Given the description of an element on the screen output the (x, y) to click on. 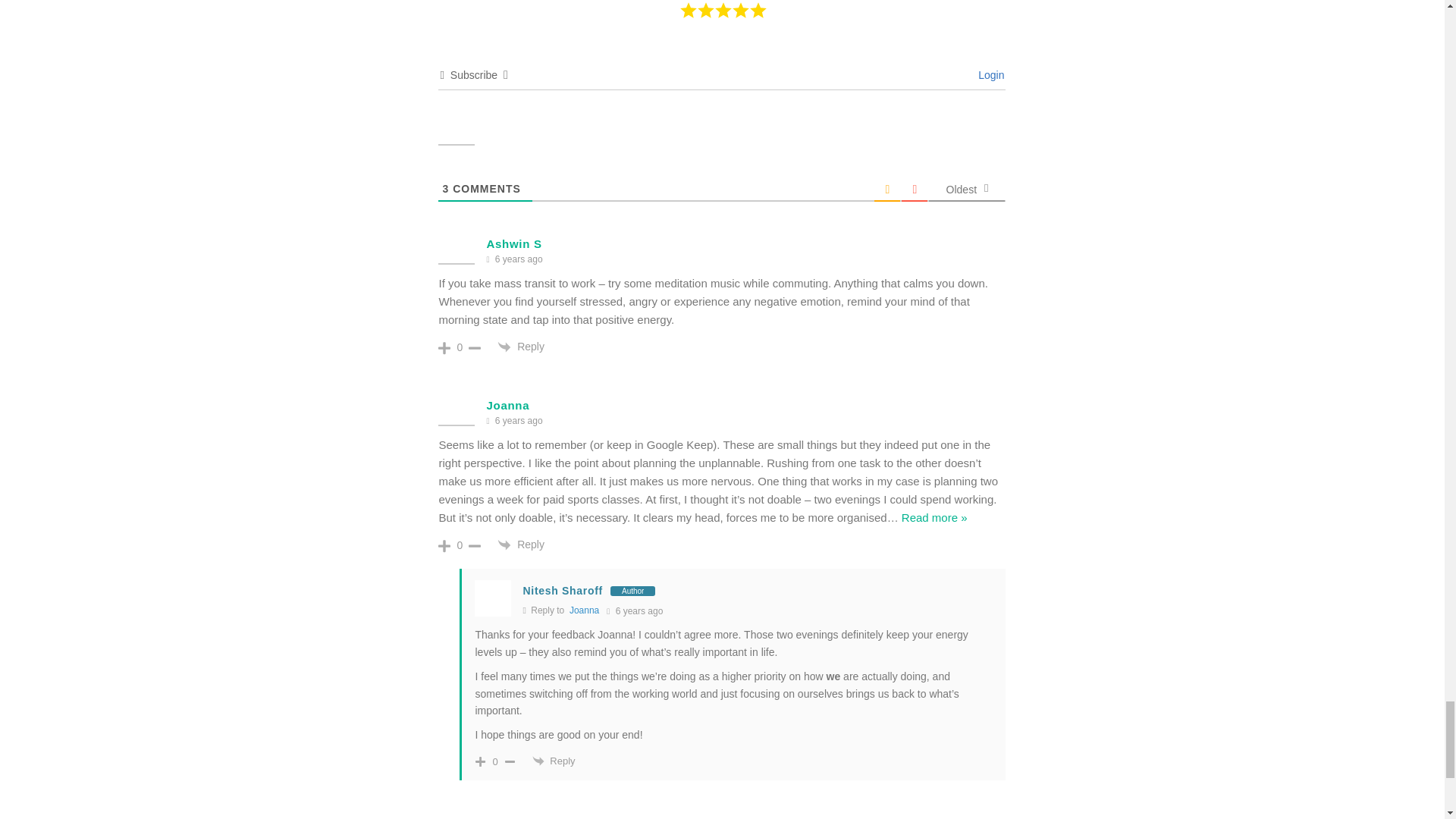
Login (989, 74)
